Given the description of an element on the screen output the (x, y) to click on. 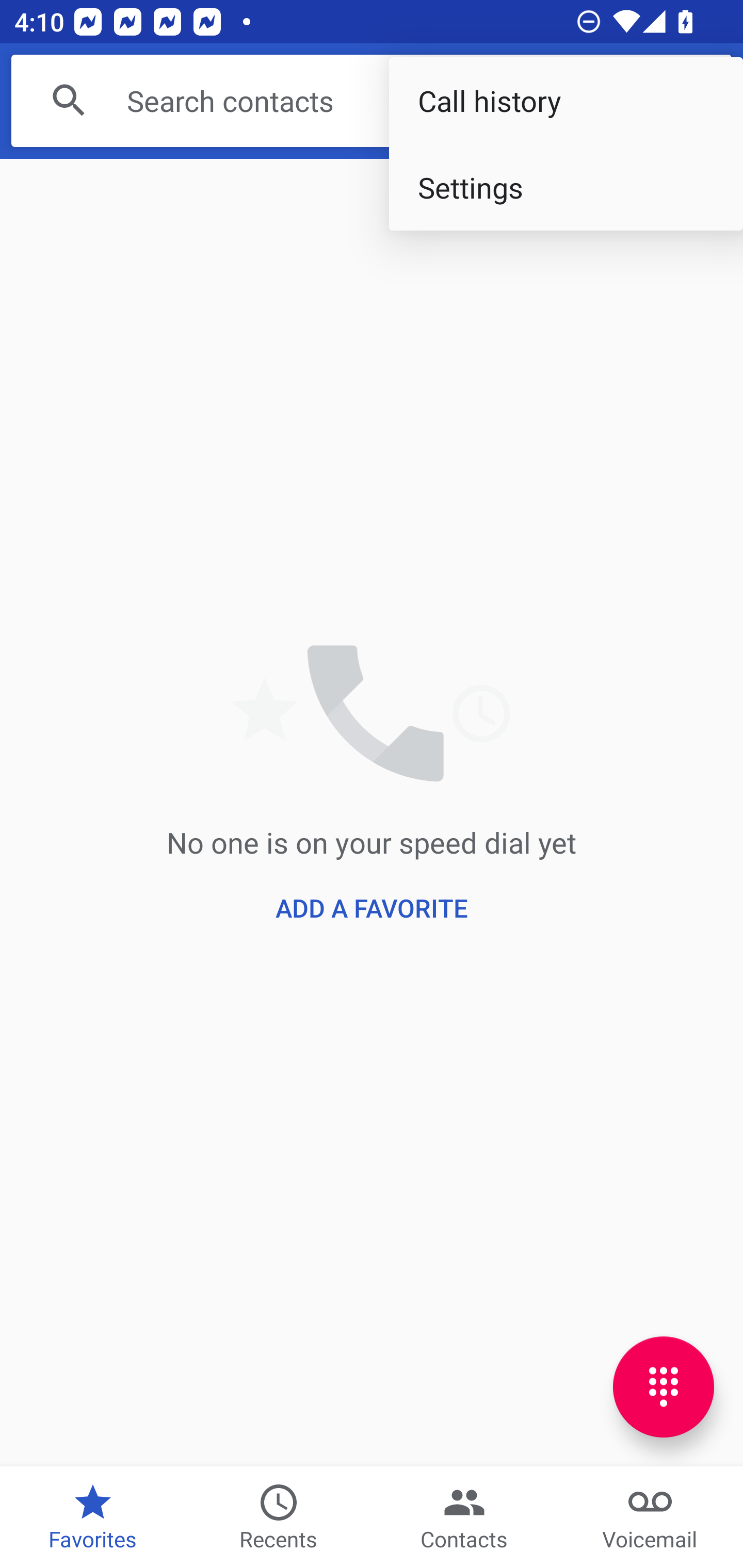
Call history (566, 101)
Settings (566, 187)
